Given the description of an element on the screen output the (x, y) to click on. 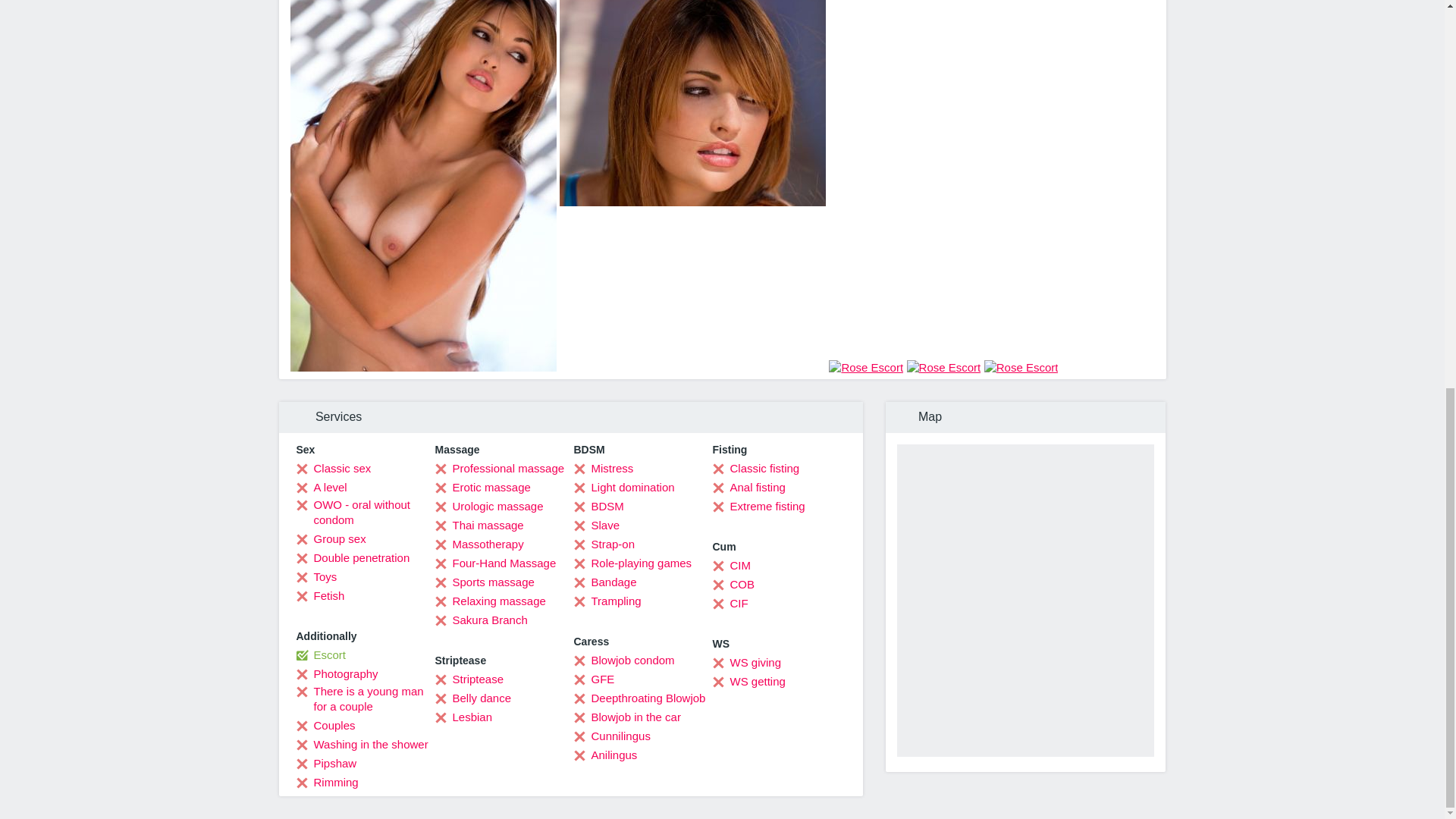
Thai massage (479, 525)
Fetish (319, 595)
Photography (336, 673)
Pipshaw (325, 763)
Urologic massage (489, 506)
There is a young man for a couple (364, 698)
Double penetration (352, 557)
Classic sex (333, 468)
A level (320, 487)
Rimming (326, 782)
